Given the description of an element on the screen output the (x, y) to click on. 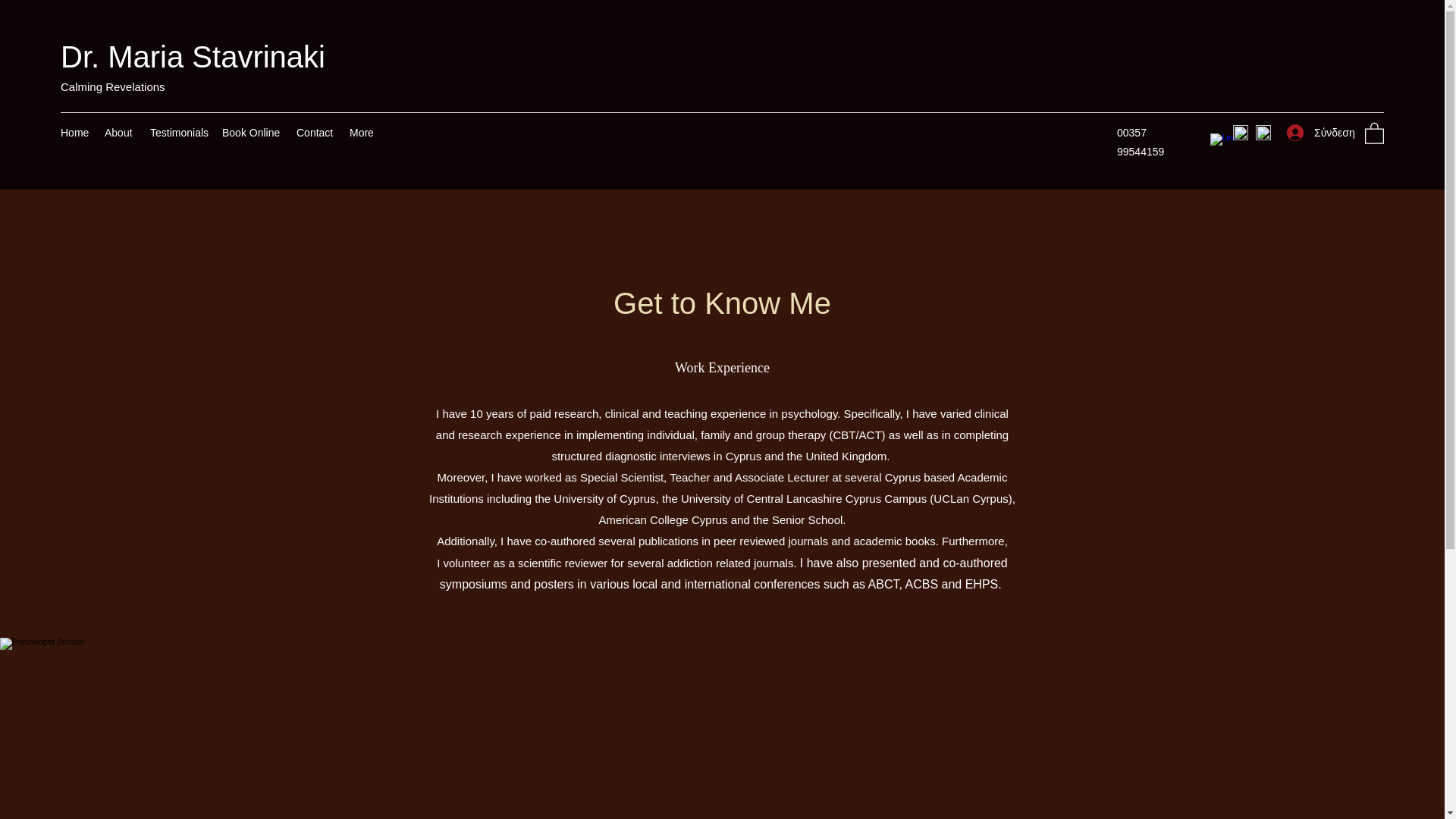
Testimonials (178, 132)
Contact (315, 132)
Dr. Maria Stavrinaki (192, 56)
About (119, 132)
Home (74, 132)
Book Online (251, 132)
